Given the description of an element on the screen output the (x, y) to click on. 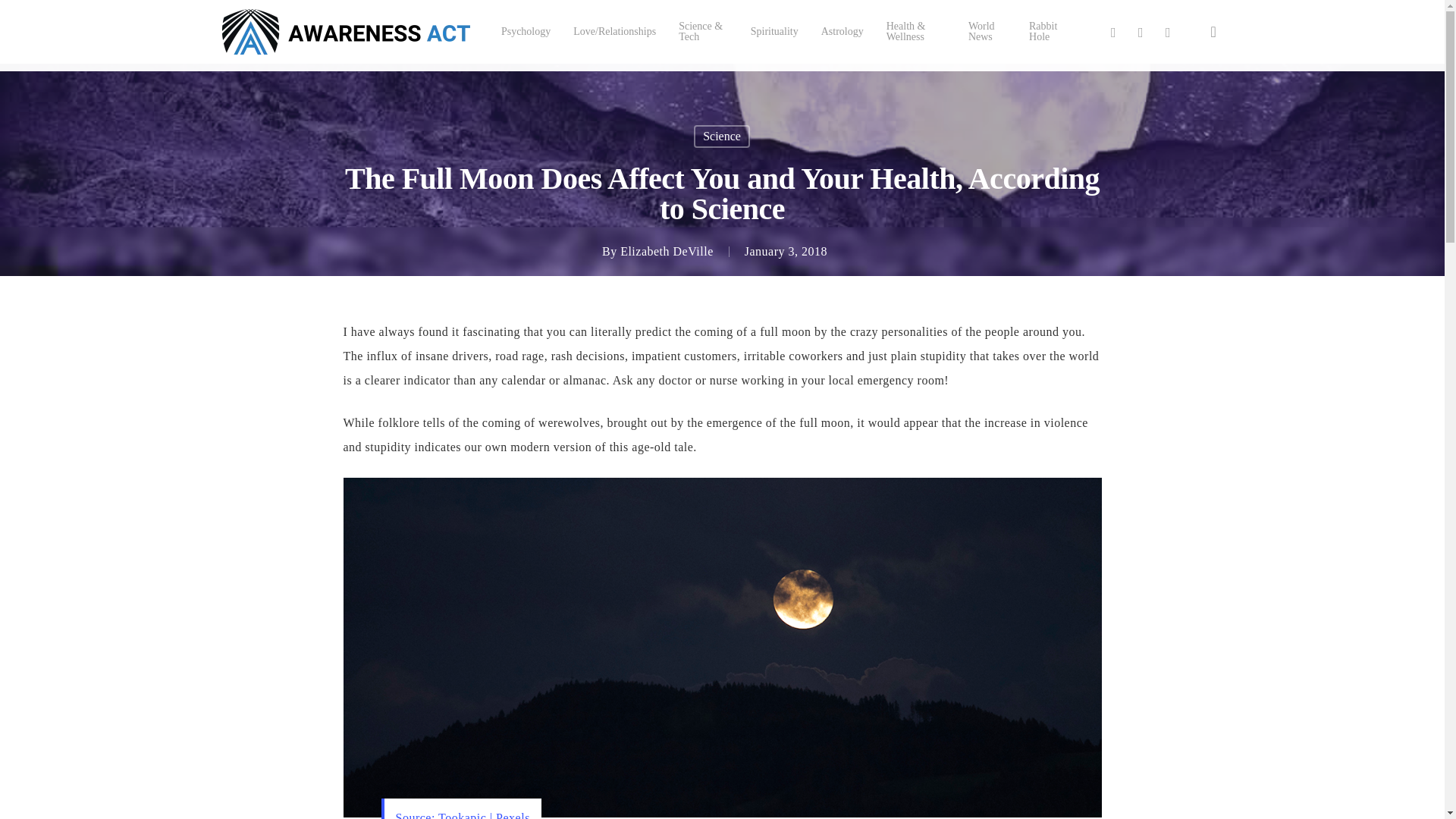
Science (721, 136)
DMCA (787, 806)
Spirituality (774, 31)
Twitter (1112, 31)
Elizabeth DeVille (666, 250)
Rabbit Hole (1047, 31)
Instagram (1167, 31)
Disclosure (873, 806)
search (1213, 32)
Privacy     (832, 806)
Legal (751, 806)
Astrology (842, 31)
World News (987, 31)
Psychology (525, 31)
Posts by Elizabeth DeVille (666, 250)
